Given the description of an element on the screen output the (x, y) to click on. 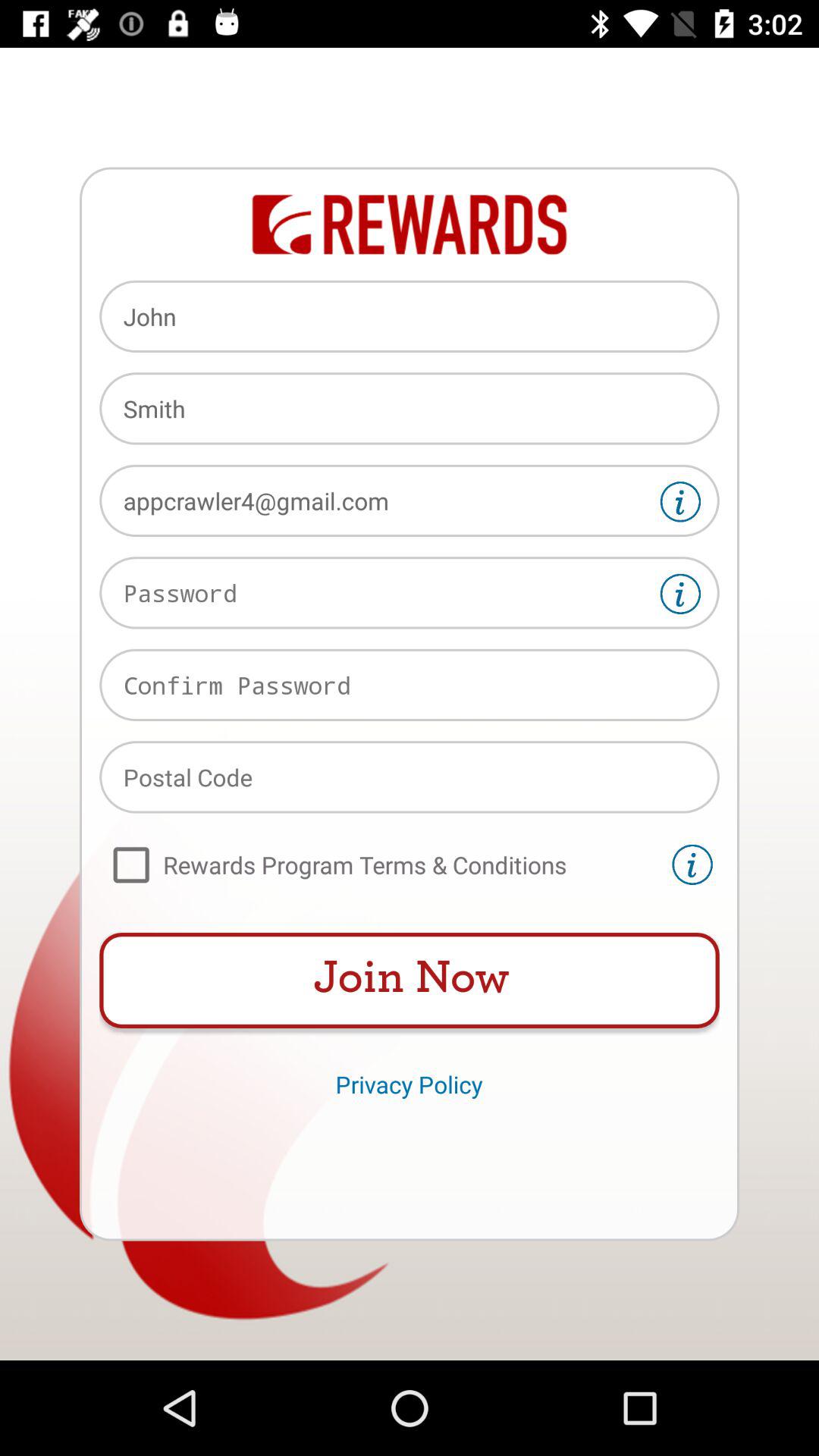
swipe until rewards program terms (382, 864)
